Given the description of an element on the screen output the (x, y) to click on. 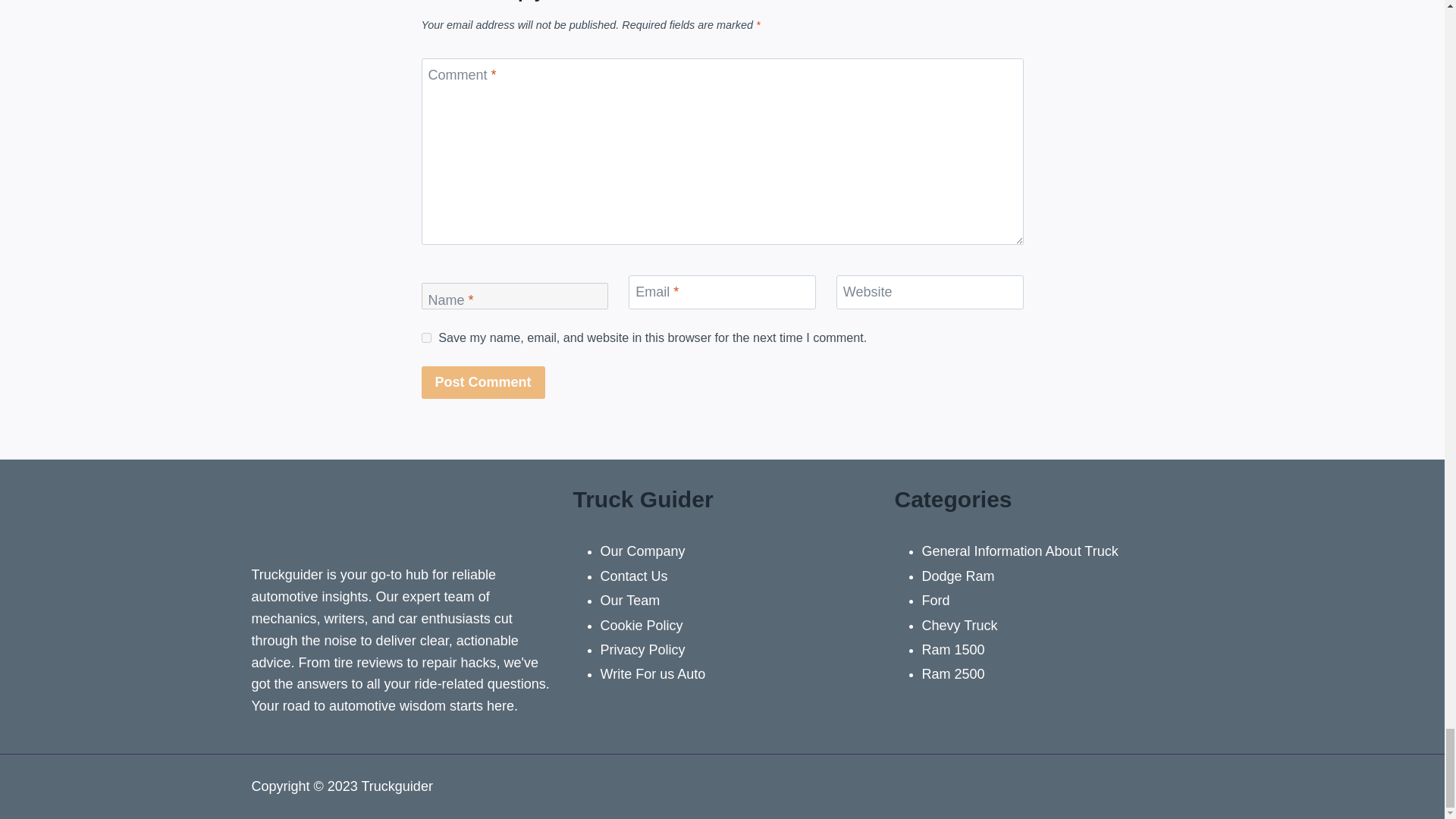
Post Comment (483, 382)
Shift-click to edit this widget. (722, 786)
yes (426, 337)
